Given the description of an element on the screen output the (x, y) to click on. 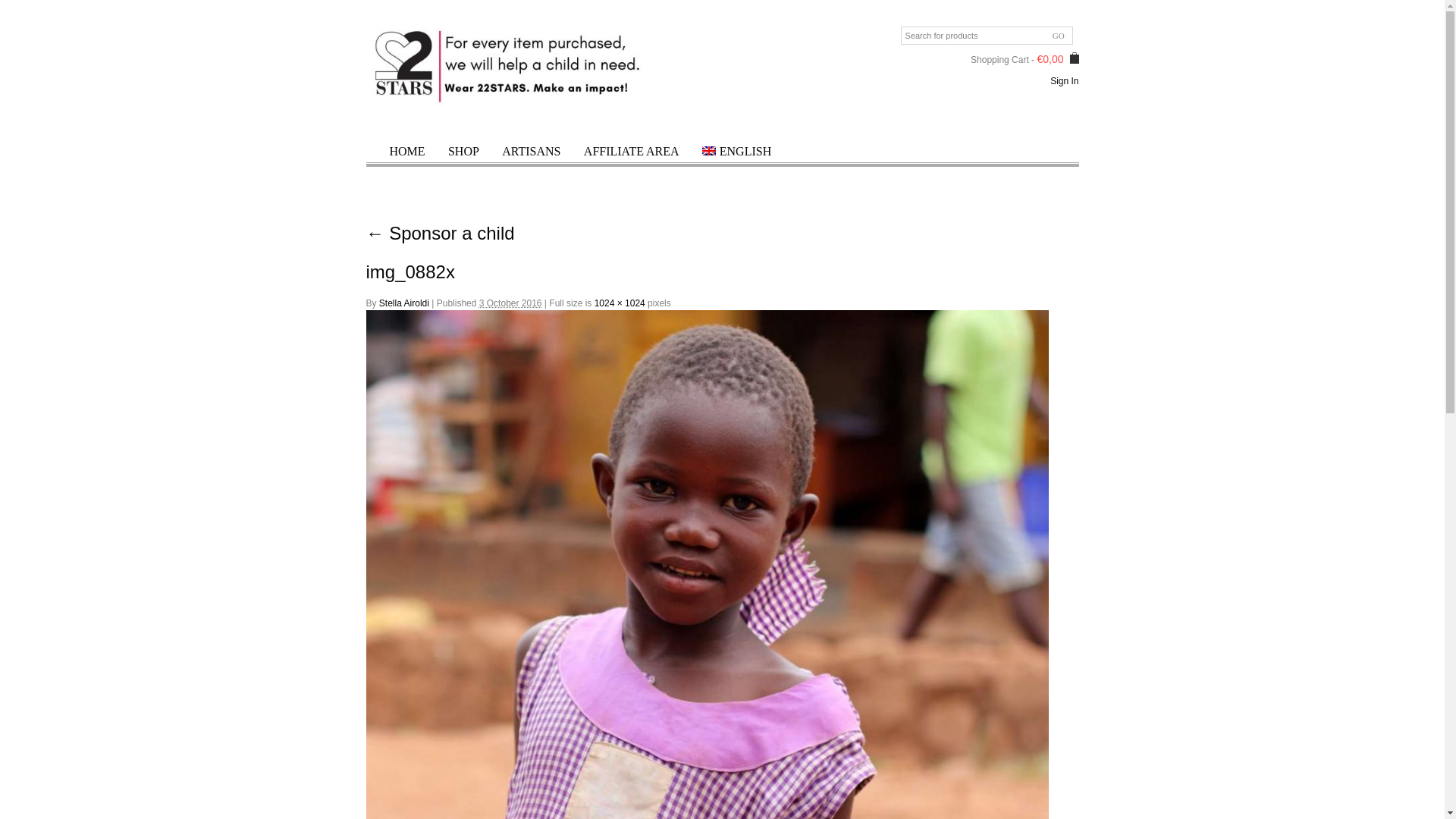
Return to Sponsor a child (439, 232)
ENGLISH (736, 150)
View all posts by Stella Airoldi (403, 303)
HOME (406, 150)
English (736, 150)
SHOP (463, 150)
Link to full-size image (619, 303)
ARTISANS (531, 150)
AFFILIATE AREA (631, 150)
Search for products (987, 35)
English (708, 150)
23:16 (510, 303)
Sign In (1063, 81)
